Given the description of an element on the screen output the (x, y) to click on. 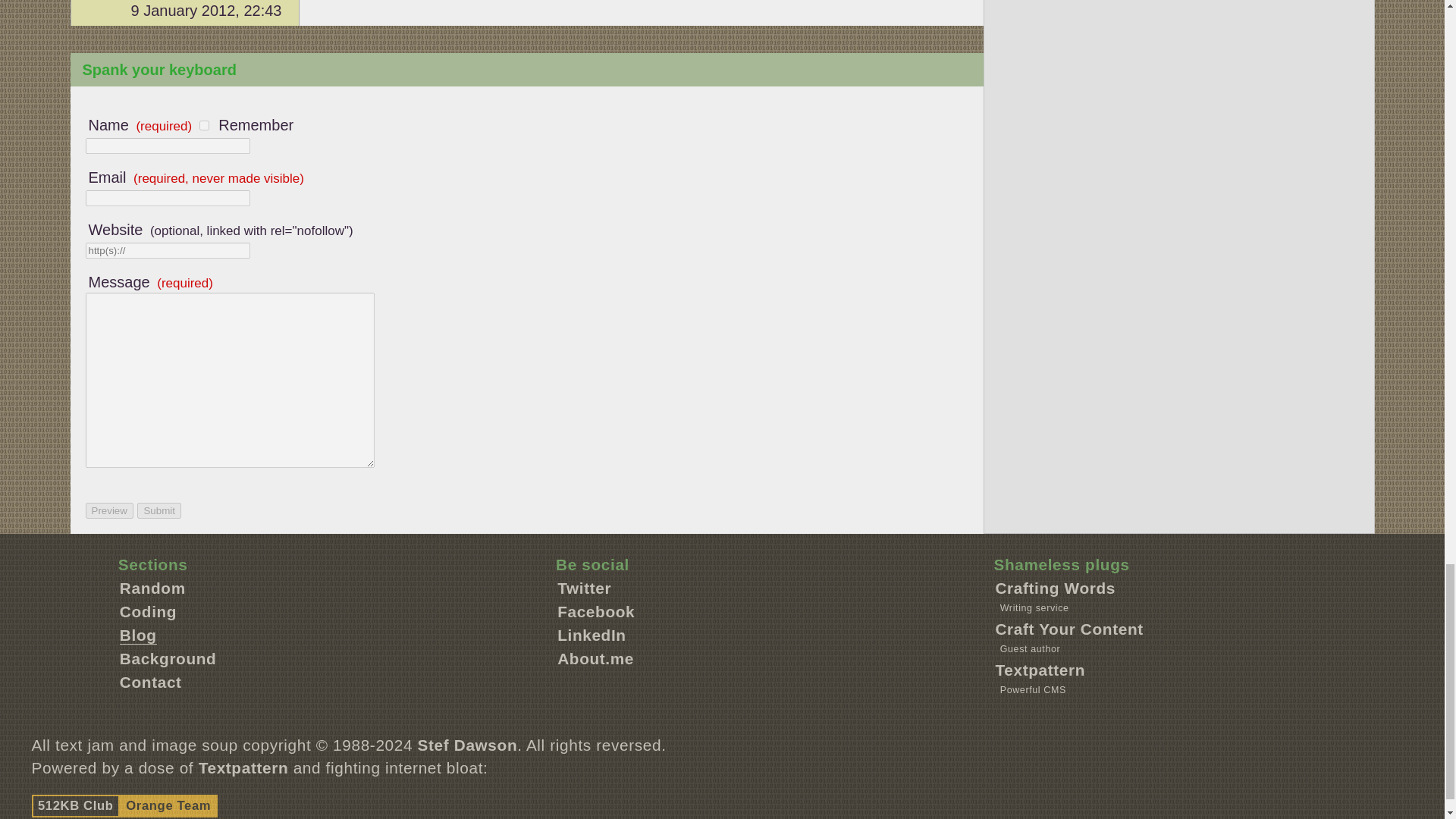
About.me (595, 658)
Preview (108, 510)
LinkedIn (591, 634)
Twitter (584, 588)
Craft Your Content (1068, 628)
Facebook (595, 610)
Crafting Words (1054, 588)
Preview (108, 510)
Submit (158, 510)
Background (167, 658)
Textpattern (1039, 669)
Stef Dawson (467, 744)
Blog (138, 635)
1 (204, 125)
Submit (158, 510)
